Given the description of an element on the screen output the (x, y) to click on. 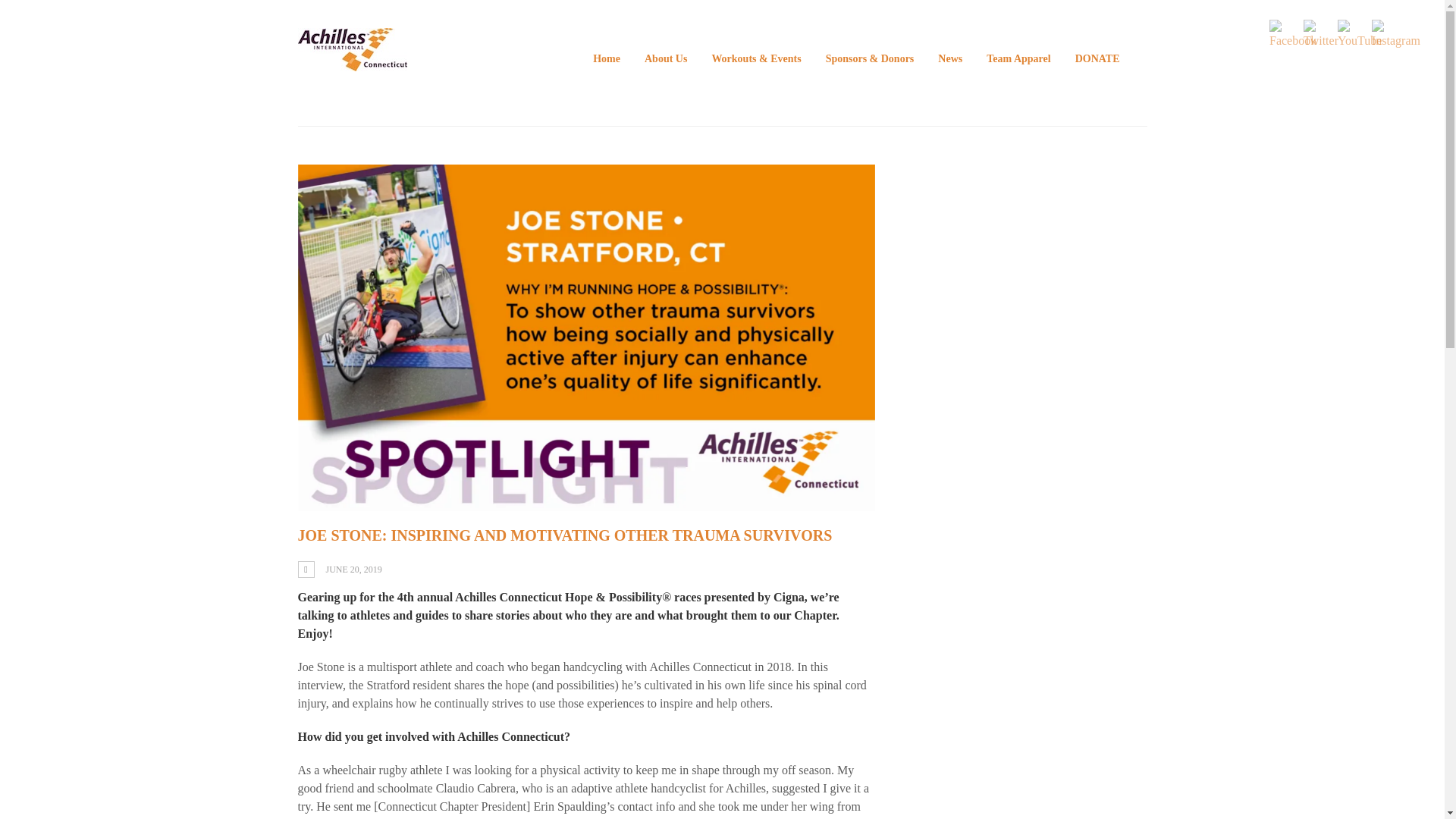
Instagram (1396, 34)
JOE STONE: INSPIRING AND MOTIVATING OTHER TRAUMA SURVIVORS (564, 535)
About Us (666, 58)
Achilles CT Chapter (351, 61)
YouTube (1359, 34)
Facebook (1292, 34)
Twitter (1320, 34)
DONATE (1096, 58)
News (949, 58)
